Given the description of an element on the screen output the (x, y) to click on. 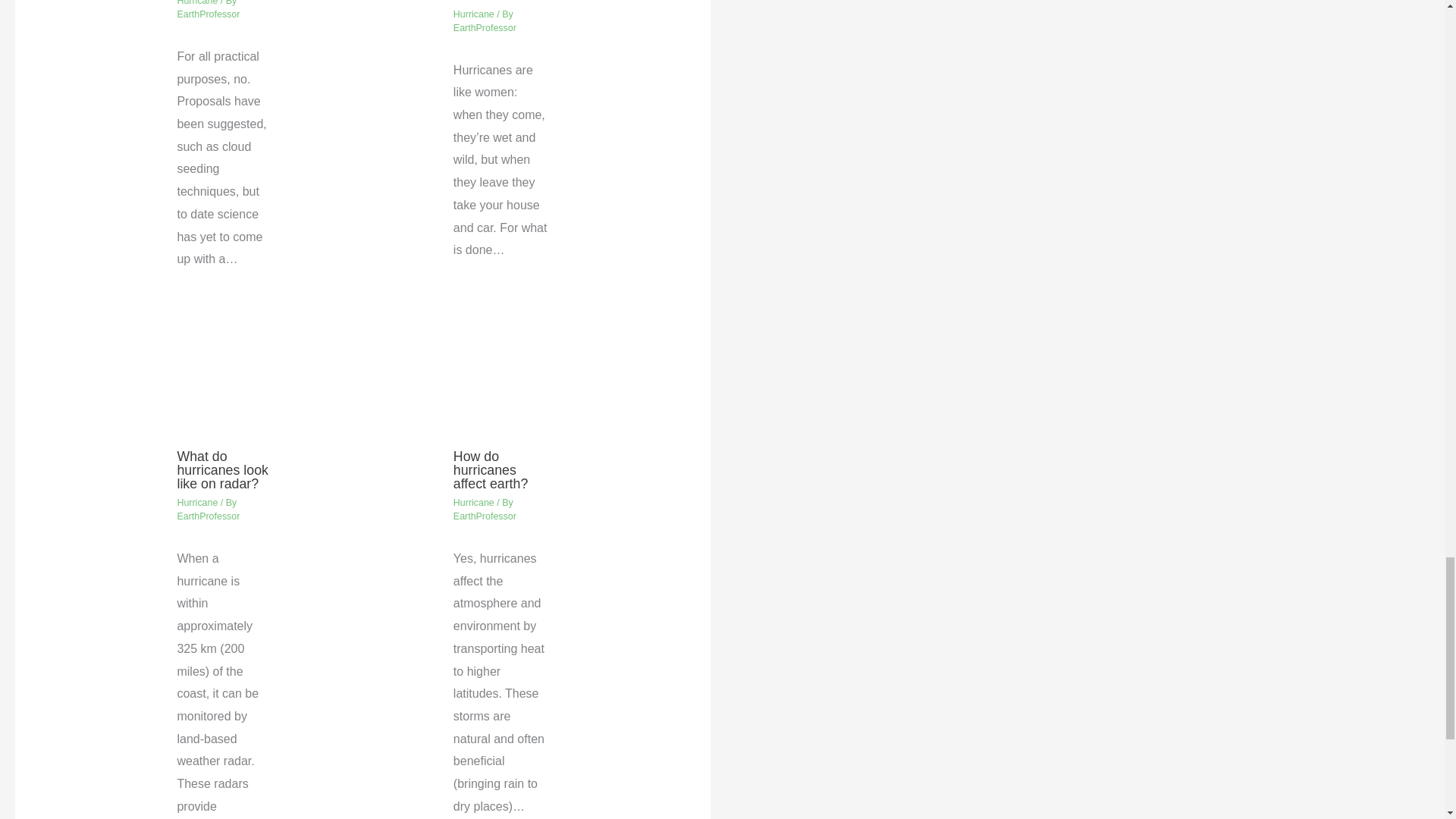
EarthProfessor (208, 14)
View all posts by EarthProfessor (484, 27)
Hurricane (473, 502)
Hurricane (196, 502)
View all posts by EarthProfessor (484, 516)
EarthProfessor (484, 516)
Hurricane (473, 14)
View all posts by EarthProfessor (208, 516)
How do hurricanes affect earth? (489, 469)
View all posts by EarthProfessor (208, 14)
